Given the description of an element on the screen output the (x, y) to click on. 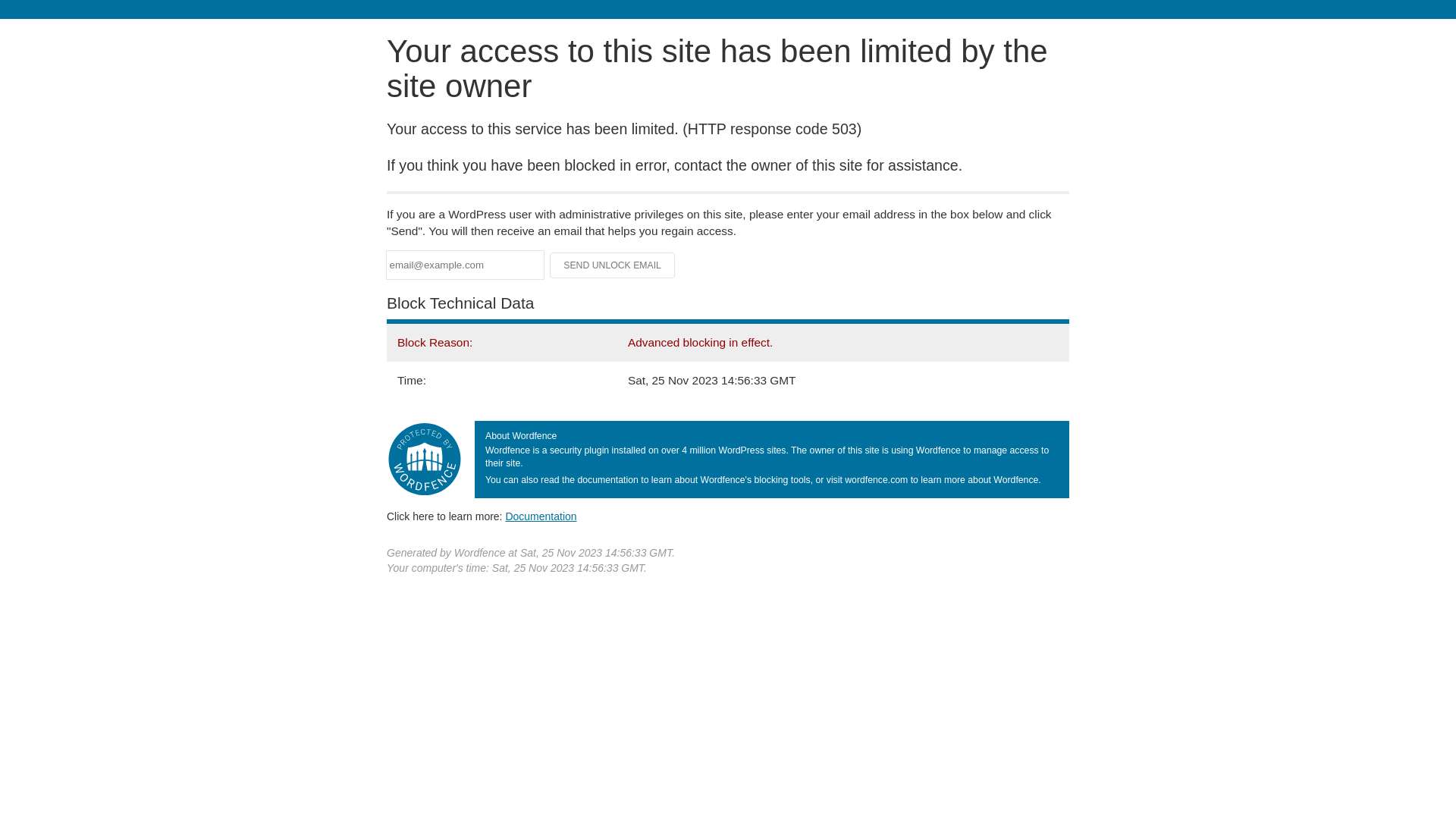
Documentation Element type: text (540, 516)
Send Unlock Email Element type: text (612, 265)
